Given the description of an element on the screen output the (x, y) to click on. 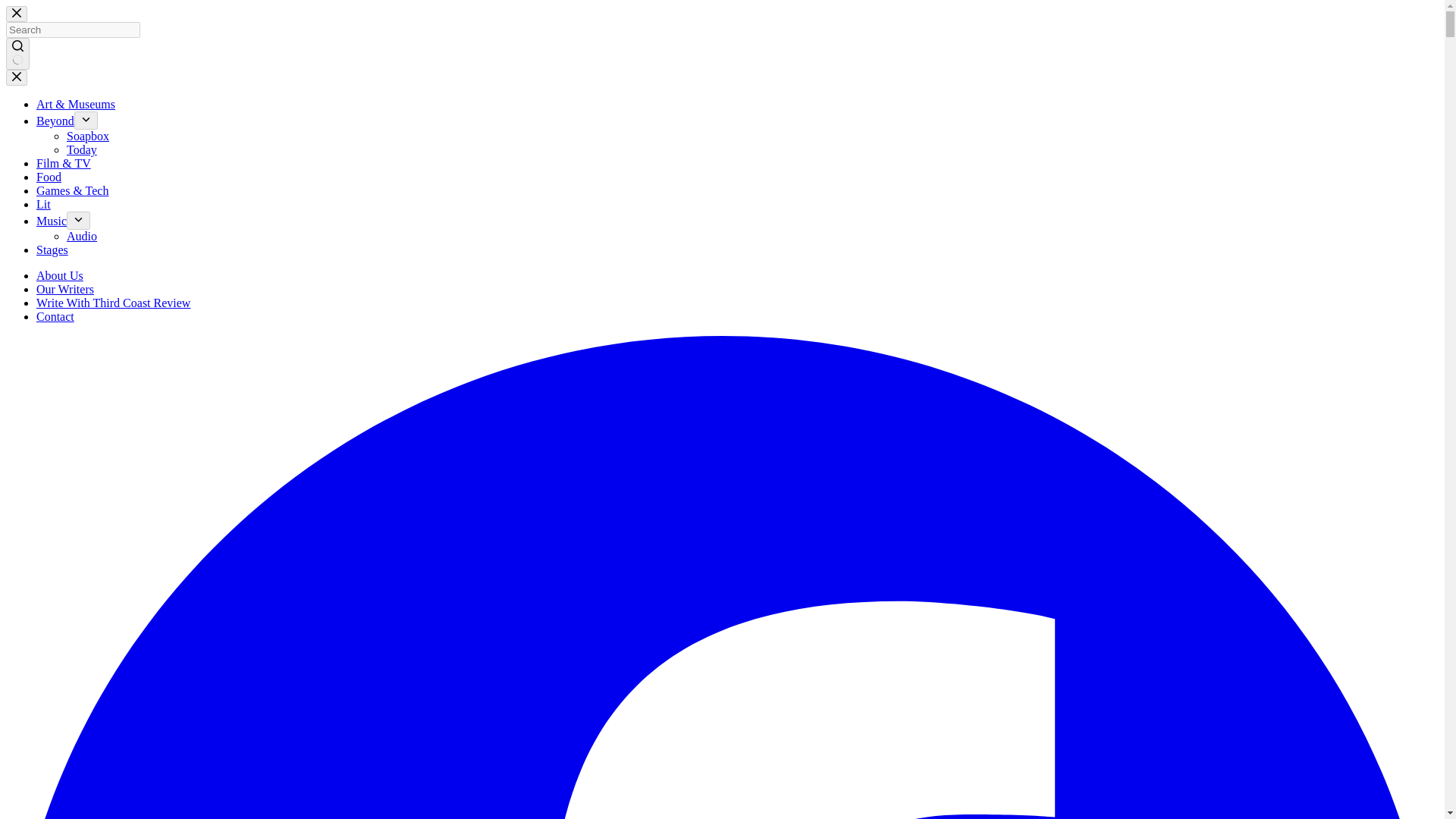
Today (81, 149)
Stages (52, 249)
Contact (55, 316)
About Us (59, 275)
Food (48, 176)
Our Writers (65, 288)
Music (51, 220)
Lit (43, 204)
Soapbox (87, 135)
Write With Third Coast Review (113, 302)
